Given the description of an element on the screen output the (x, y) to click on. 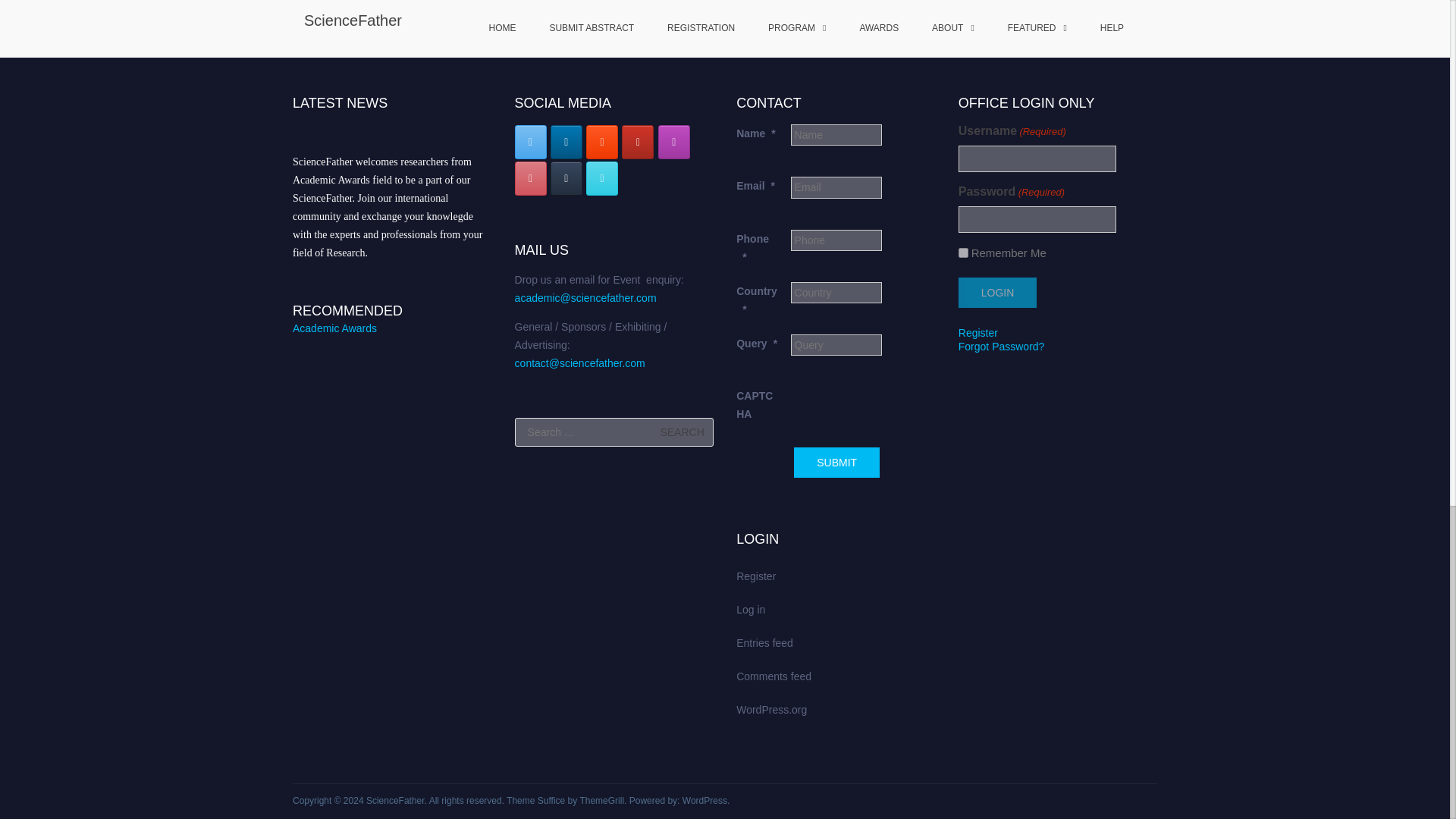
1 (963, 252)
ScienceFather (395, 800)
Login (997, 292)
ScienceFather on Tumblr (566, 178)
ScienceFather on Youtube (637, 141)
Submit (836, 462)
Suffice (550, 800)
Forgot Password? (1001, 346)
Search (681, 431)
Register (977, 332)
ScienceFather on Blogger B (601, 141)
ScienceFather on X Twitter (531, 141)
ScienceFather on Facebook (601, 178)
Search (681, 431)
ScienceFather on Linkedin (566, 141)
